Given the description of an element on the screen output the (x, y) to click on. 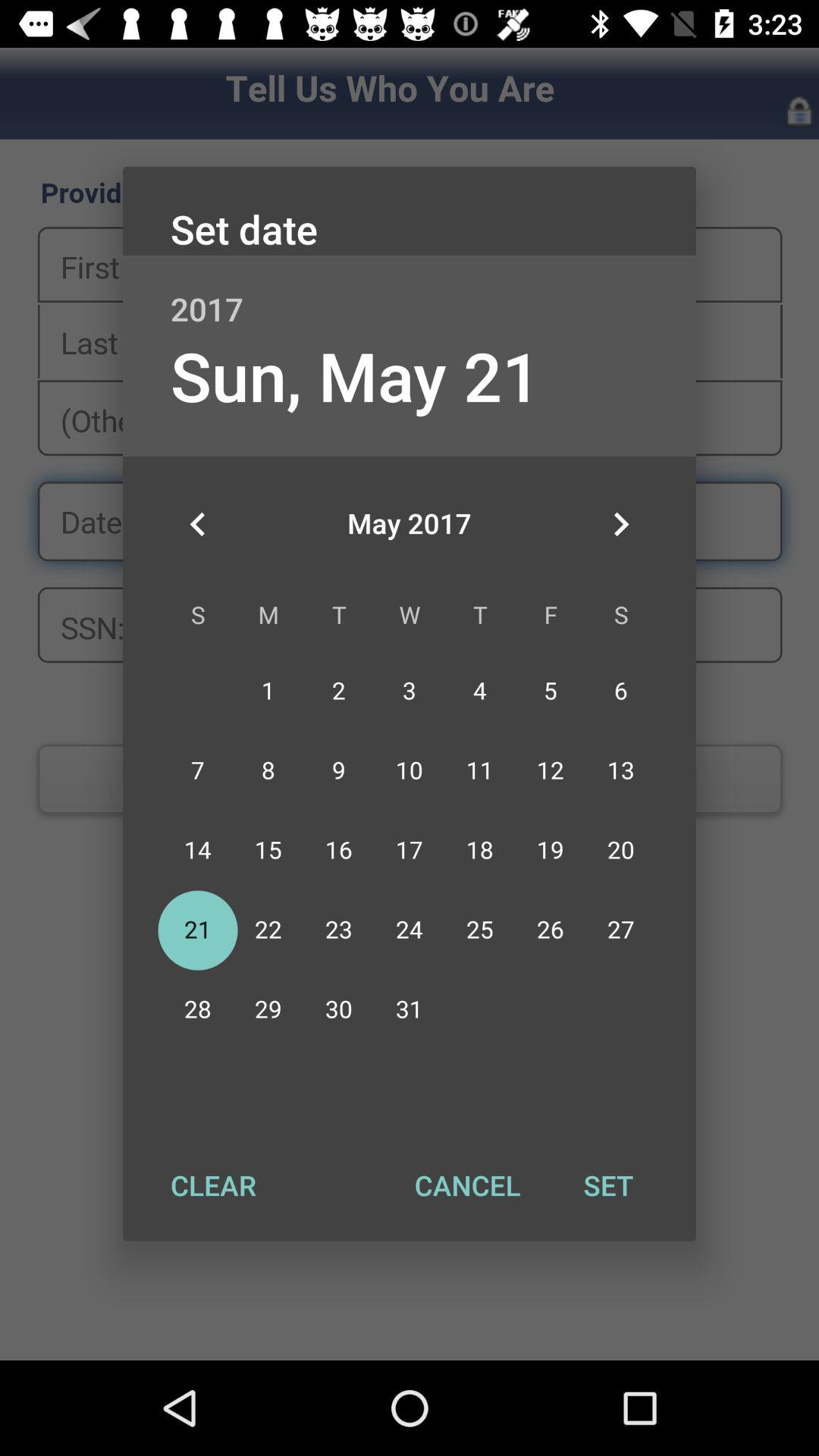
turn off the sun, may 21 icon (355, 375)
